Given the description of an element on the screen output the (x, y) to click on. 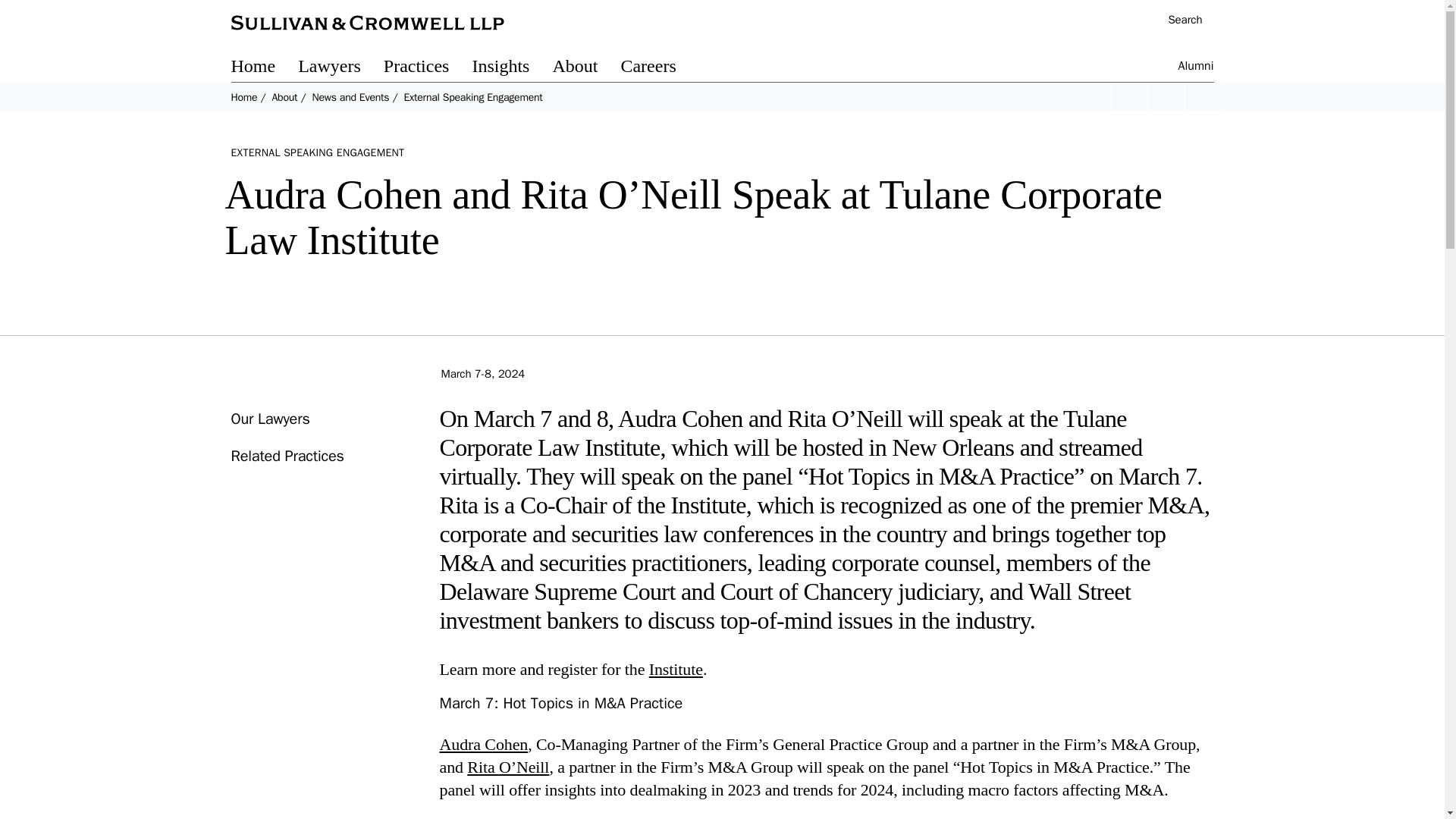
Practices (427, 67)
Institute (676, 669)
Related Practices (286, 456)
Insights (511, 67)
Our Lawyers (269, 418)
Alumni (1195, 67)
Lawyers (341, 67)
Audra Cohen (483, 743)
Home (264, 67)
Careers (659, 67)
